Given the description of an element on the screen output the (x, y) to click on. 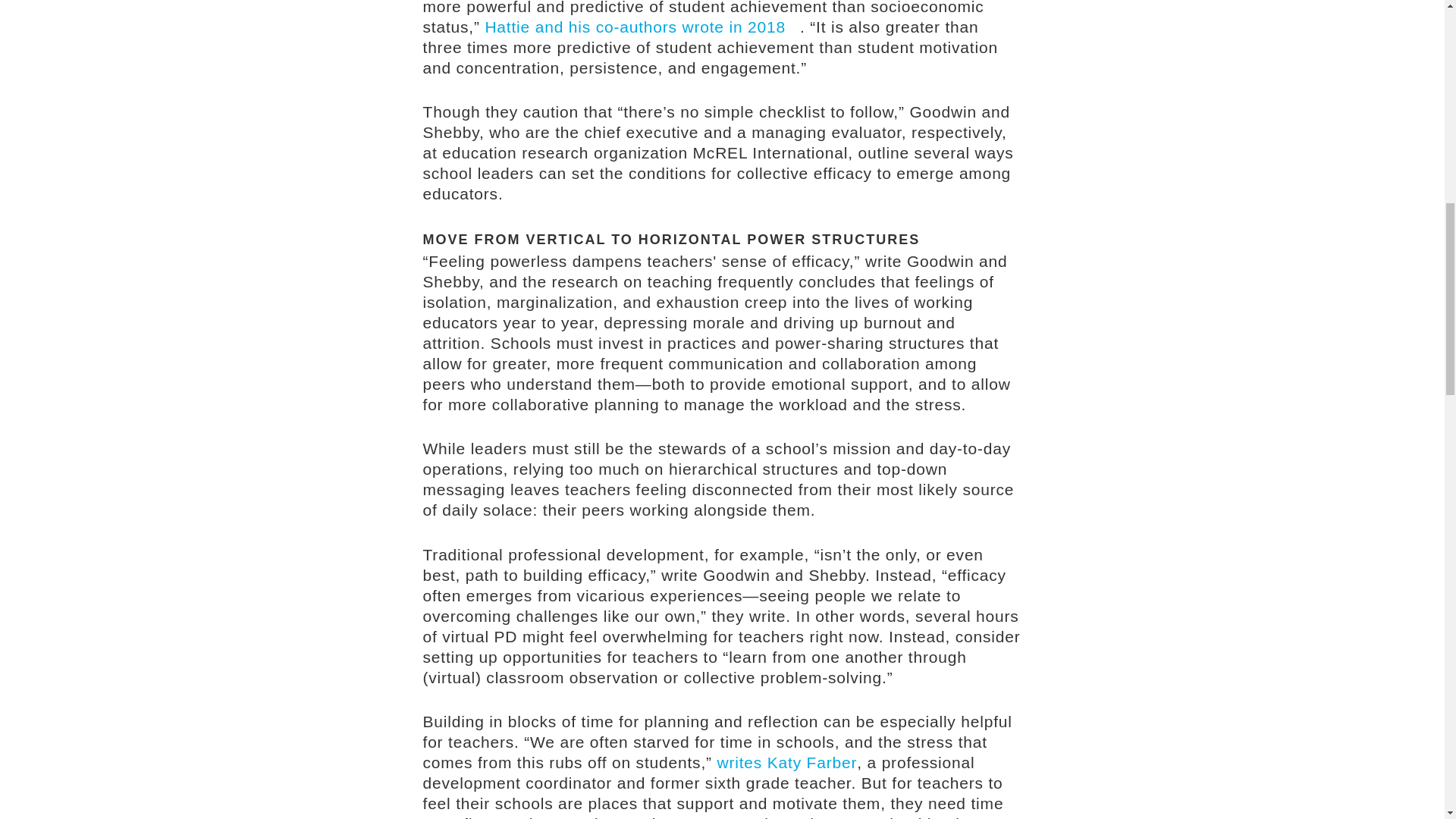
Hattie and his co-authors wrote in 2018 (641, 27)
writes Katy Farber (786, 762)
